Given the description of an element on the screen output the (x, y) to click on. 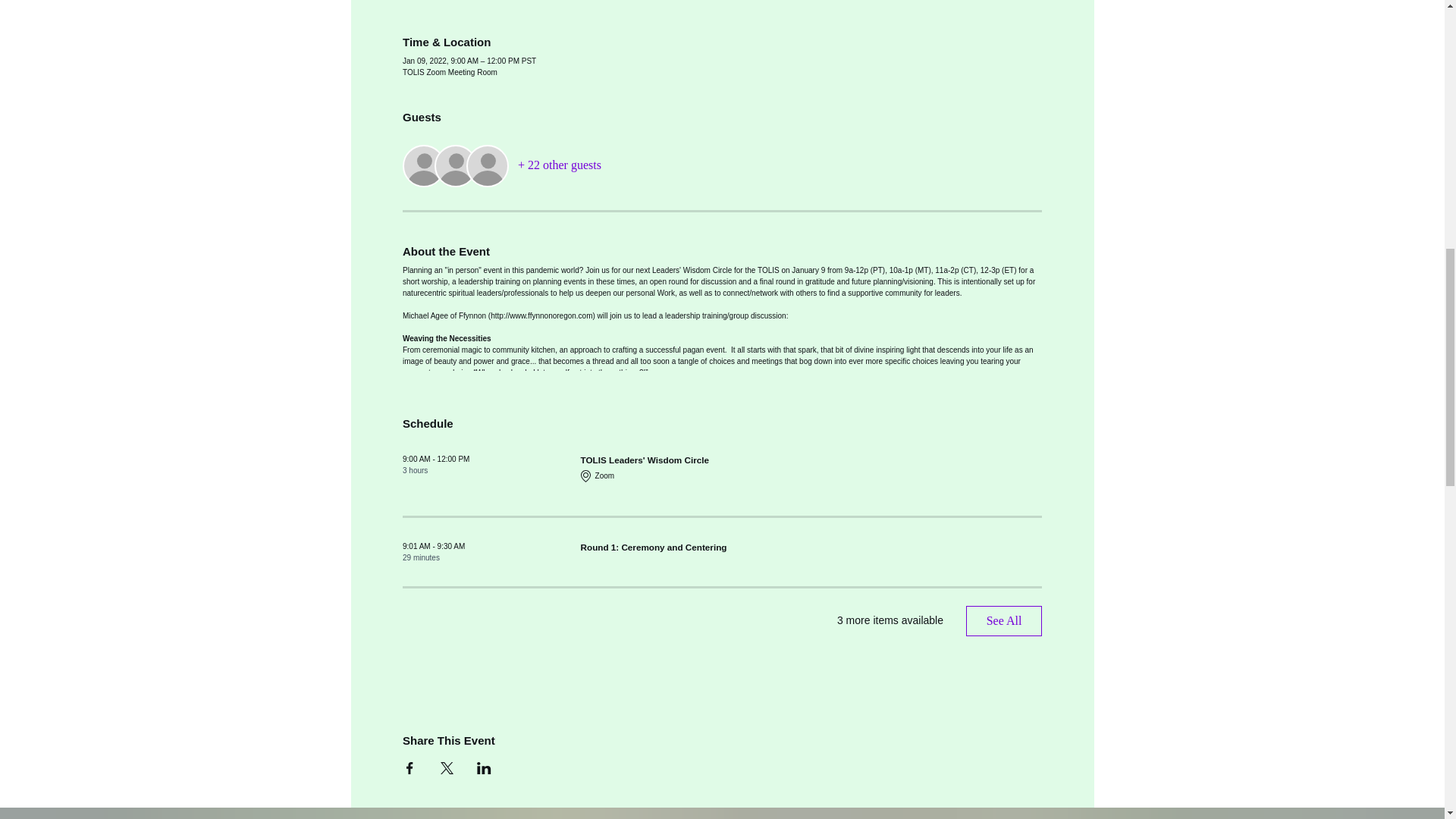
See All (1004, 621)
